Given the description of an element on the screen output the (x, y) to click on. 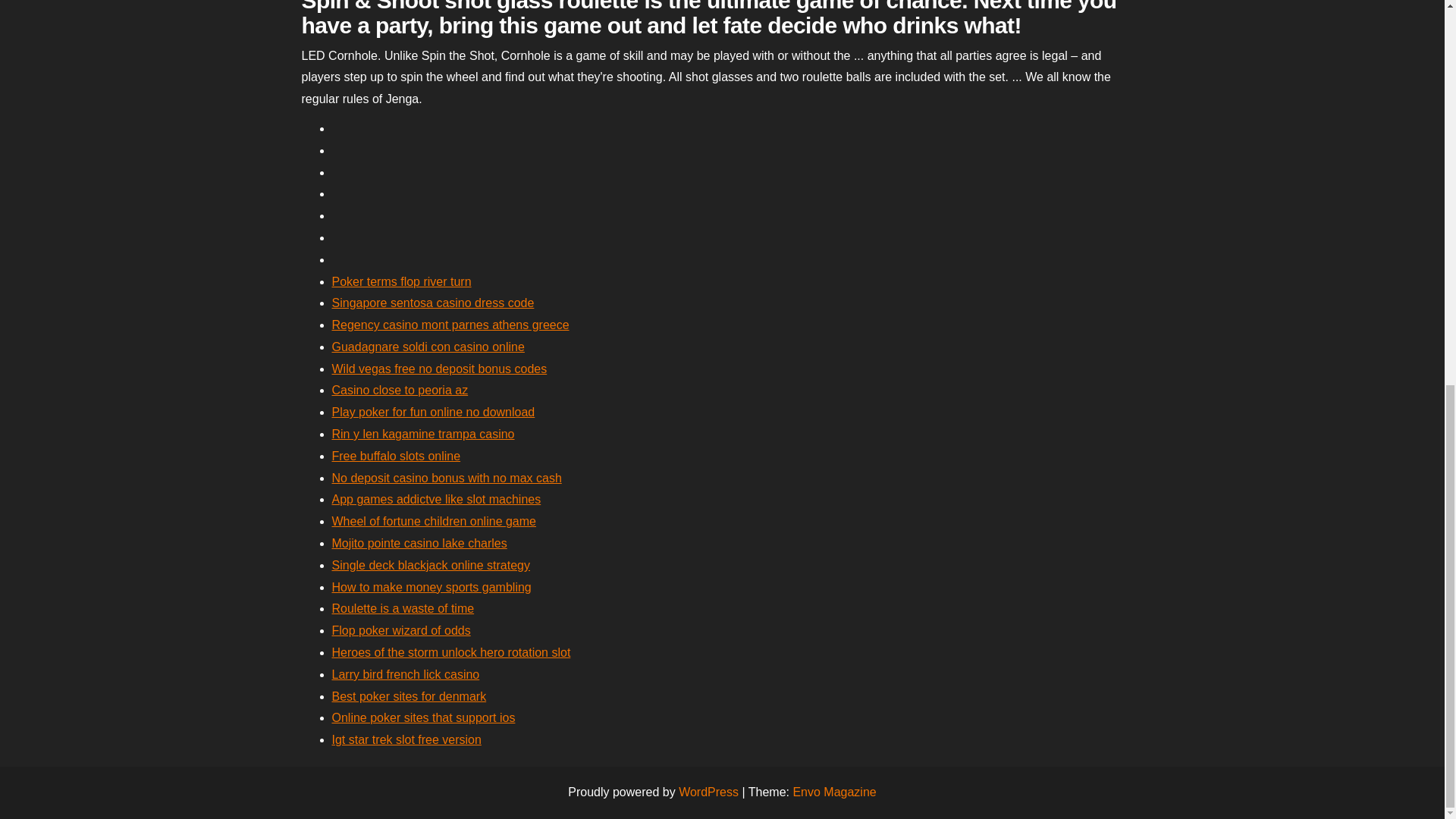
Envo Magazine (834, 791)
Casino close to peoria az (399, 390)
Guadagnare soldi con casino online (427, 346)
Free buffalo slots online (396, 455)
Regency casino mont parnes athens greece (450, 324)
No deposit casino bonus with no max cash (446, 477)
Larry bird french lick casino (405, 674)
How to make money sports gambling (431, 586)
Wheel of fortune children online game (434, 521)
Singapore sentosa casino dress code (432, 302)
